Given the description of an element on the screen output the (x, y) to click on. 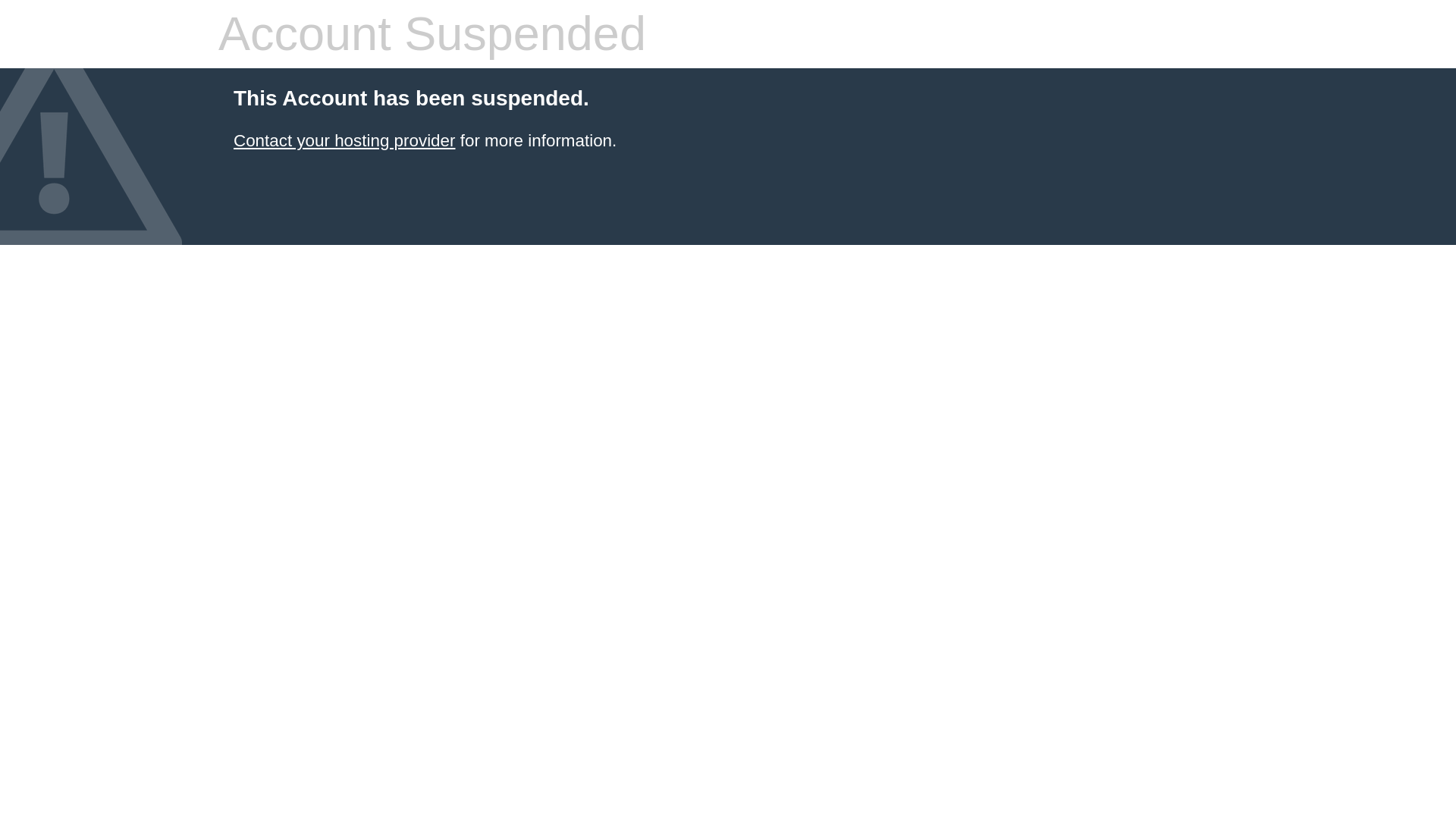
Contact your hosting provider (343, 140)
